Given the description of an element on the screen output the (x, y) to click on. 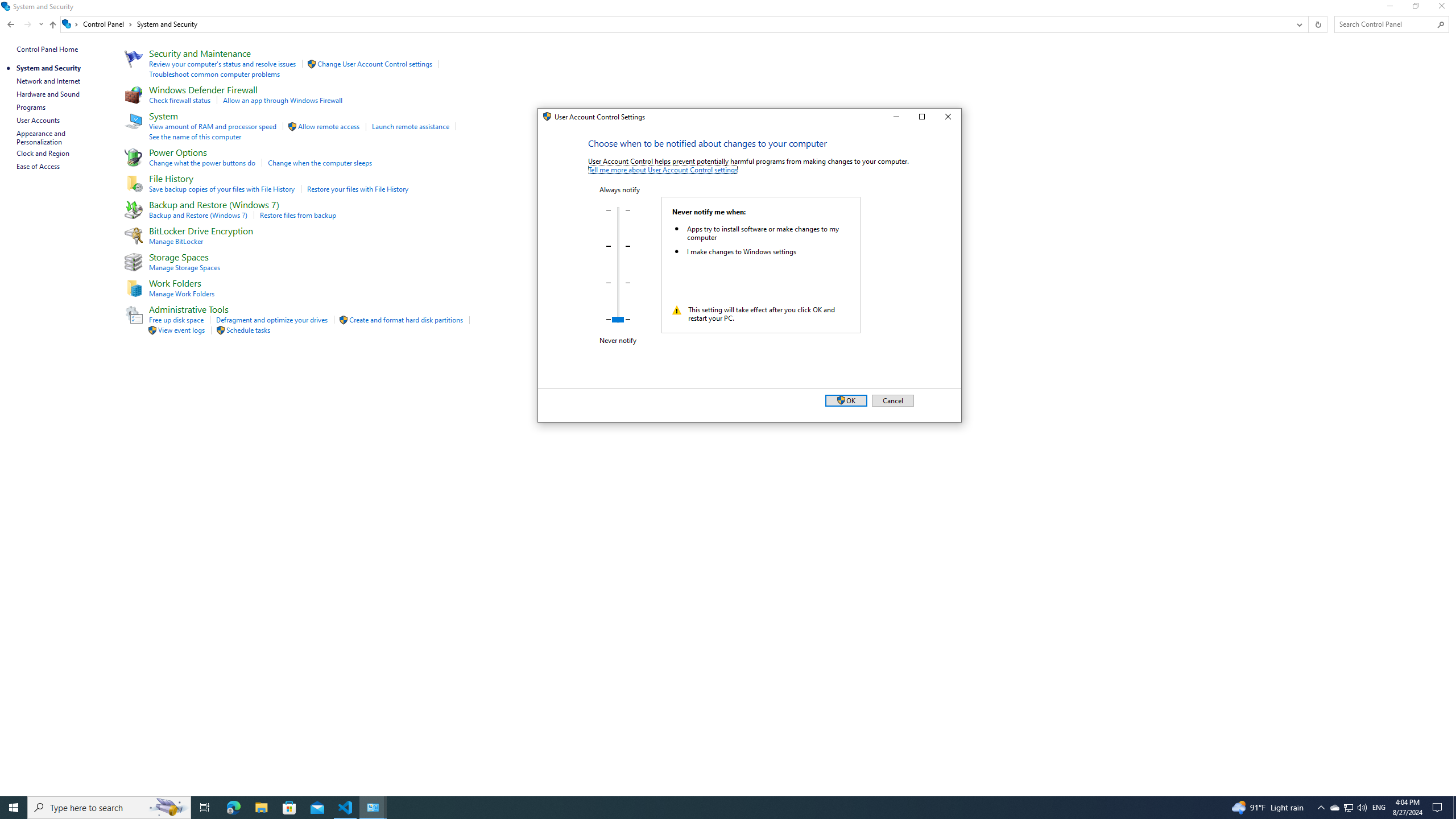
File Explorer (261, 807)
